Given the description of an element on the screen output the (x, y) to click on. 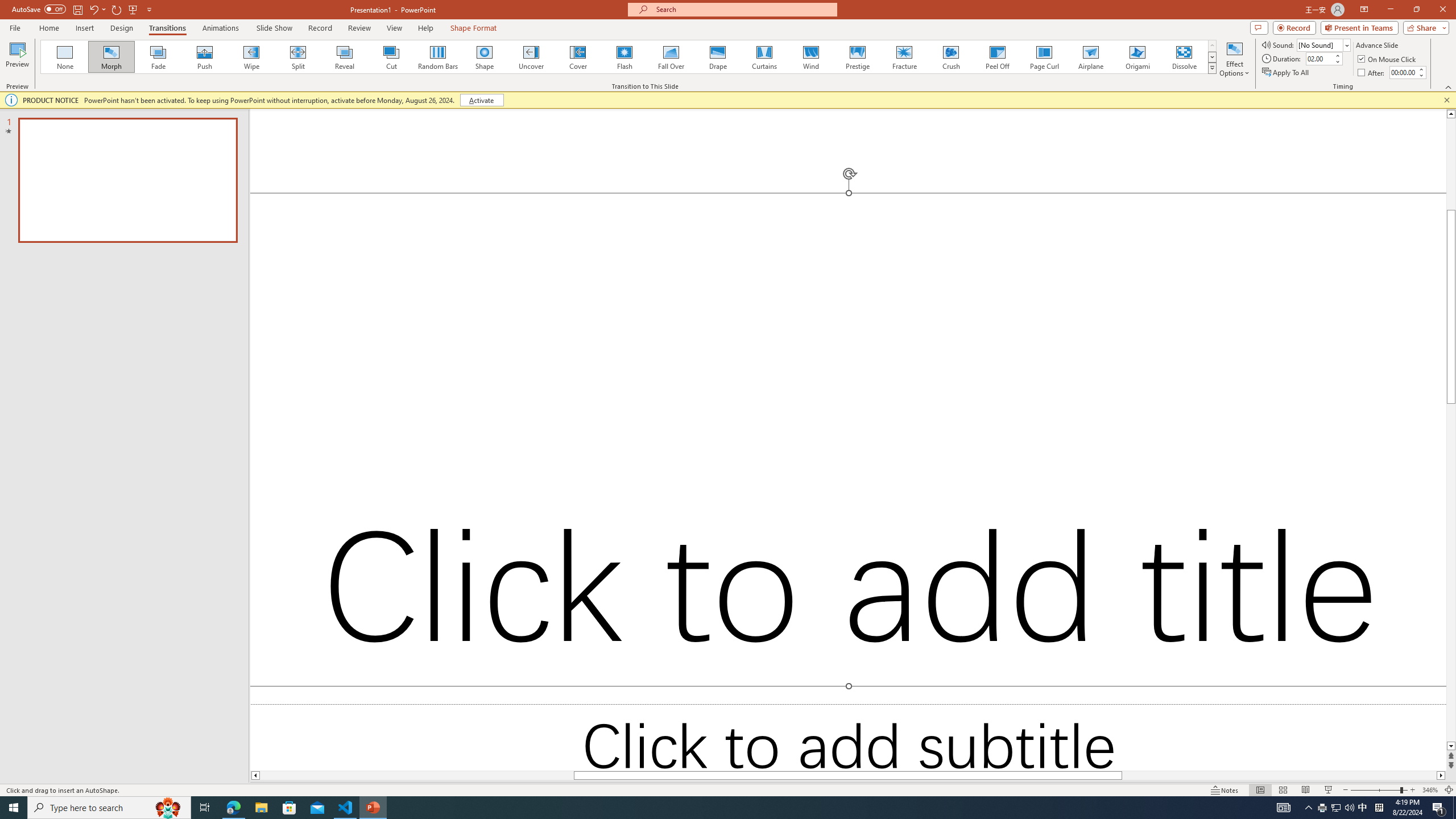
Duration (1319, 58)
Activate (481, 100)
Wind (810, 56)
Page Curl (1043, 56)
Push (205, 56)
Cover (577, 56)
Zoom 346% (1430, 790)
